Given the description of an element on the screen output the (x, y) to click on. 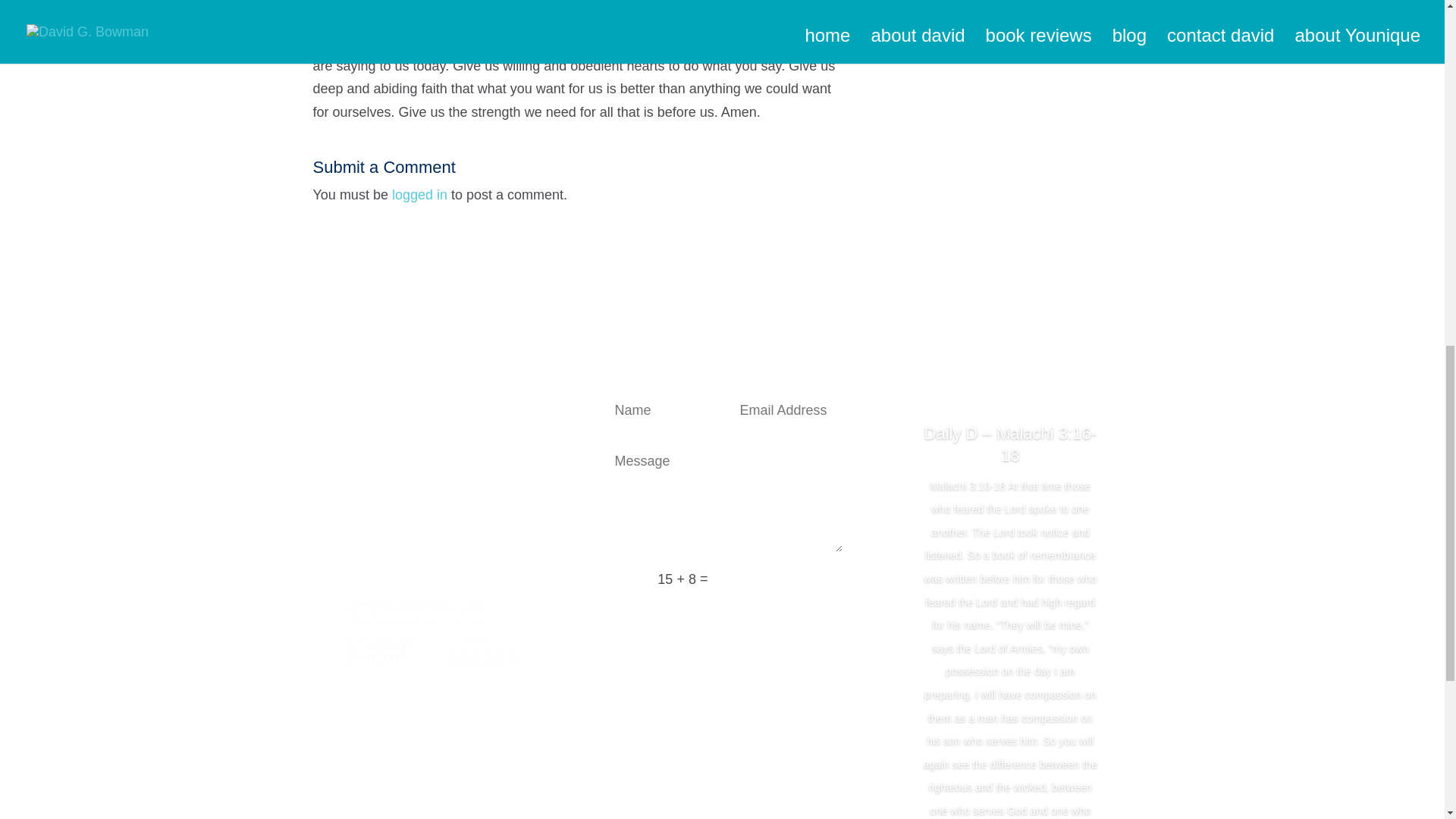
Follow on LinkedIn (440, 401)
Follow on Facebook (380, 401)
Follow on Instagram (471, 401)
Follow on Twitter (410, 401)
Submit (802, 578)
logged in (418, 194)
Follow on Pinterest (501, 401)
